Given the description of an element on the screen output the (x, y) to click on. 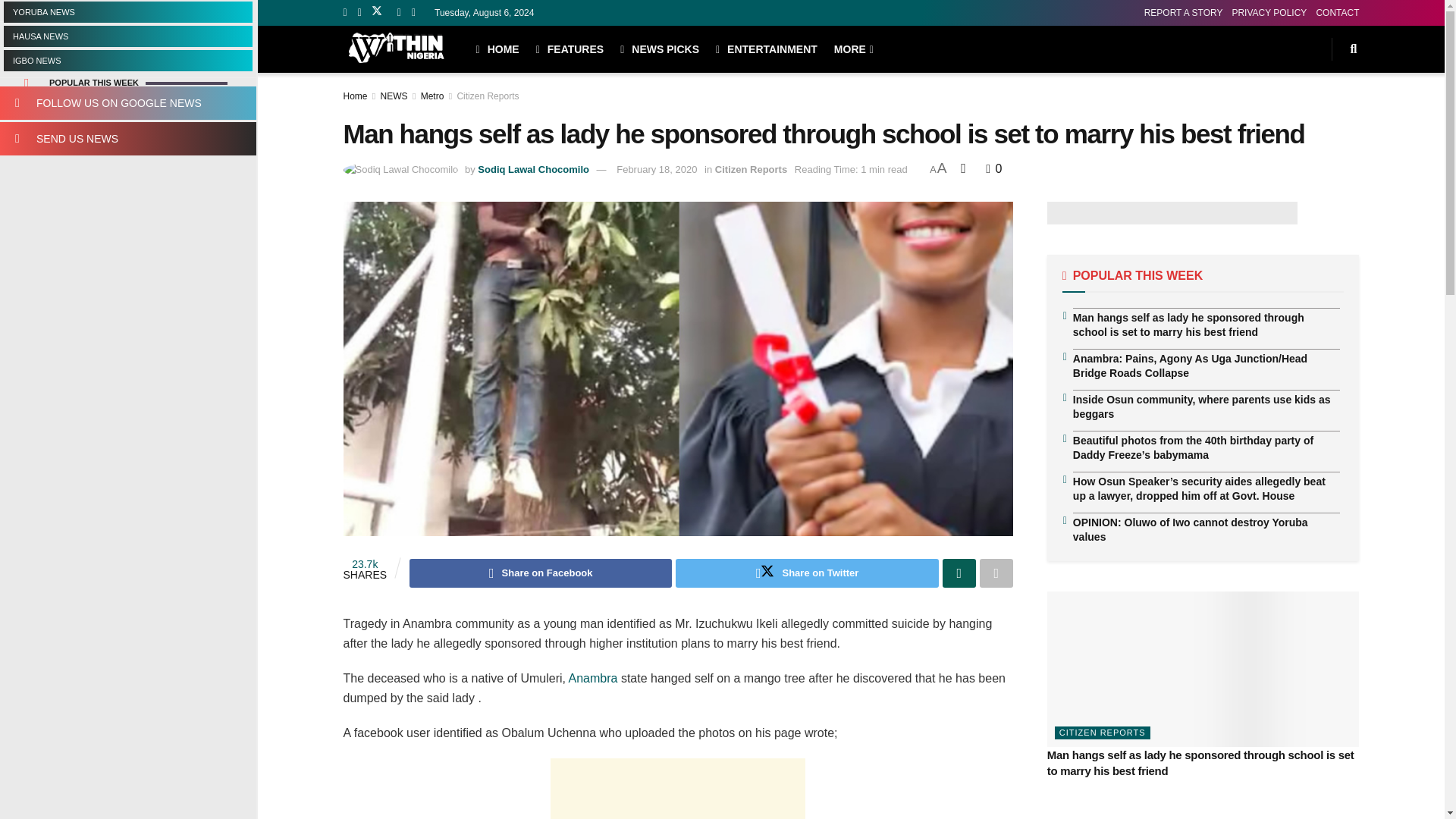
HAUSA NEWS (127, 35)
PRIVACY POLICY (1268, 12)
FEATURES (569, 48)
SEND NEWS TO WITHIN NIGERIA (128, 138)
IGBO NEWS (127, 60)
YORUBA NEWS (127, 11)
FOLLOW US ON GOOGLE NEWS (128, 102)
HOME (497, 48)
SEND US NEWS (128, 138)
REPORT A STORY (1183, 12)
CONTACT (1337, 12)
HAUSA NEWS (127, 35)
NEWS PICKS (659, 48)
WITHIN NIGERIA ON GOOGLE NEWS (128, 102)
IGBO NEWS (127, 60)
